Given the description of an element on the screen output the (x, y) to click on. 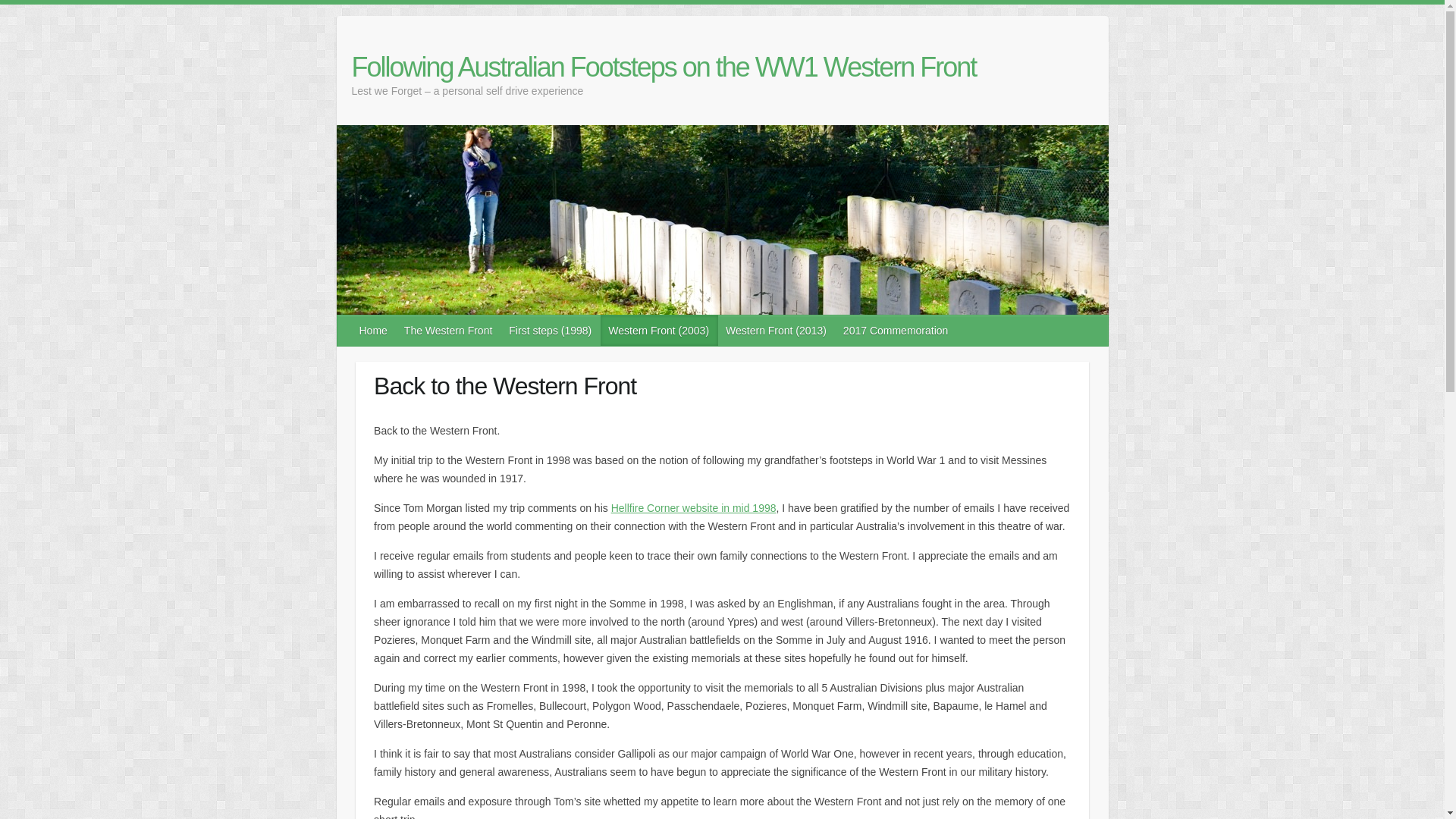
Hellfire Corner website in mid 1998 (693, 508)
2017 Commemoration (896, 330)
Home (374, 330)
Following Australian Footsteps on the WW1 Western Front (664, 67)
Tom Morgan's HELLFIRE CORNER web site (693, 508)
Following Australian Footsteps on the WW1 Western Front (664, 67)
The Western Front (448, 330)
